Given the description of an element on the screen output the (x, y) to click on. 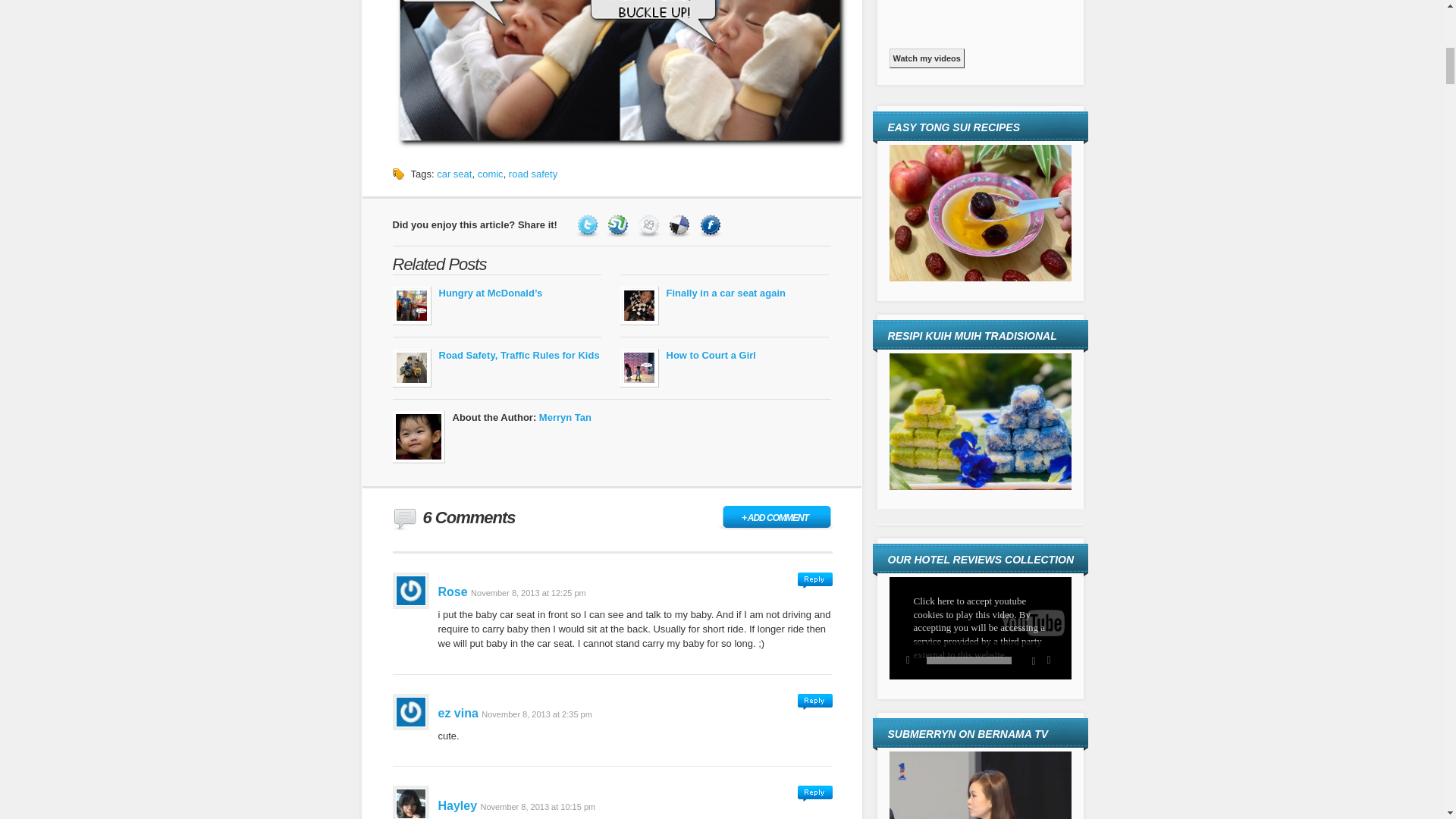
car seat (453, 173)
comic (490, 173)
